Given the description of an element on the screen output the (x, y) to click on. 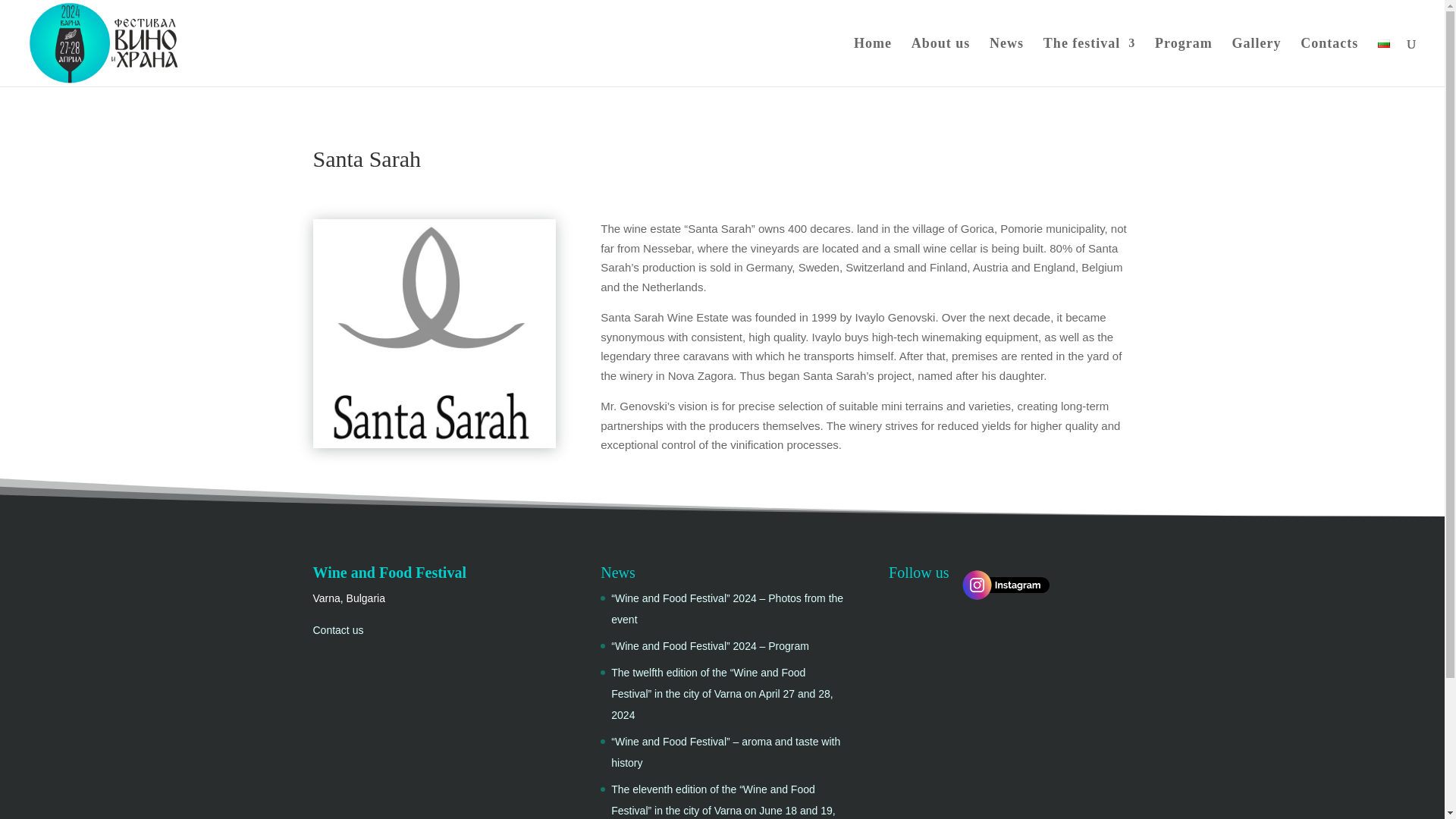
Gallery (1256, 61)
Contact us (337, 630)
Home (872, 61)
Program (1183, 61)
About us (941, 61)
Santa-Sarah-logo (433, 333)
The festival (1089, 61)
Contacts (1329, 61)
News (1006, 61)
